Given the description of an element on the screen output the (x, y) to click on. 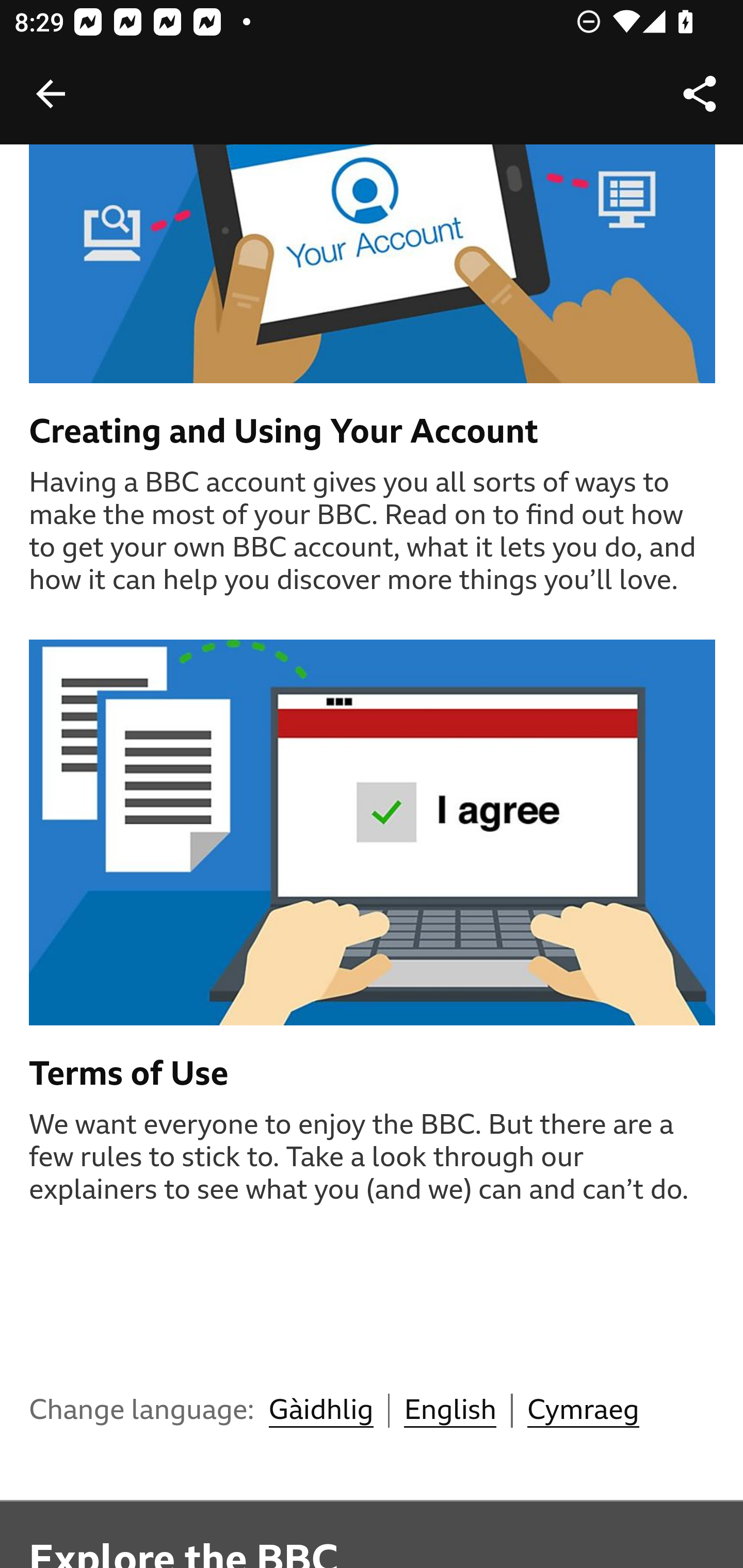
Back (50, 93)
Share (699, 93)
Creating and Using Your Account (372, 431)
Terms of Use (372, 1074)
Gàidhlig (320, 1411)
English (450, 1411)
Cymraeg (582, 1411)
